Given the description of an element on the screen output the (x, y) to click on. 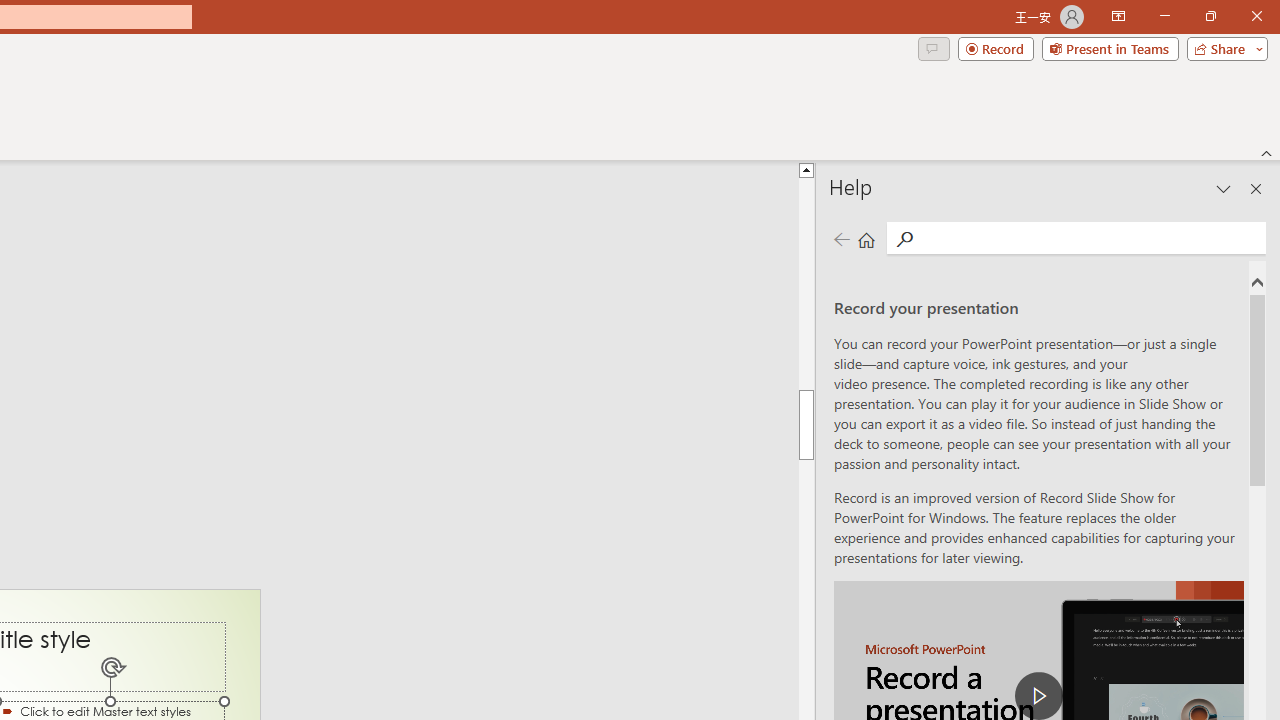
Previous page (841, 238)
